Given the description of an element on the screen output the (x, y) to click on. 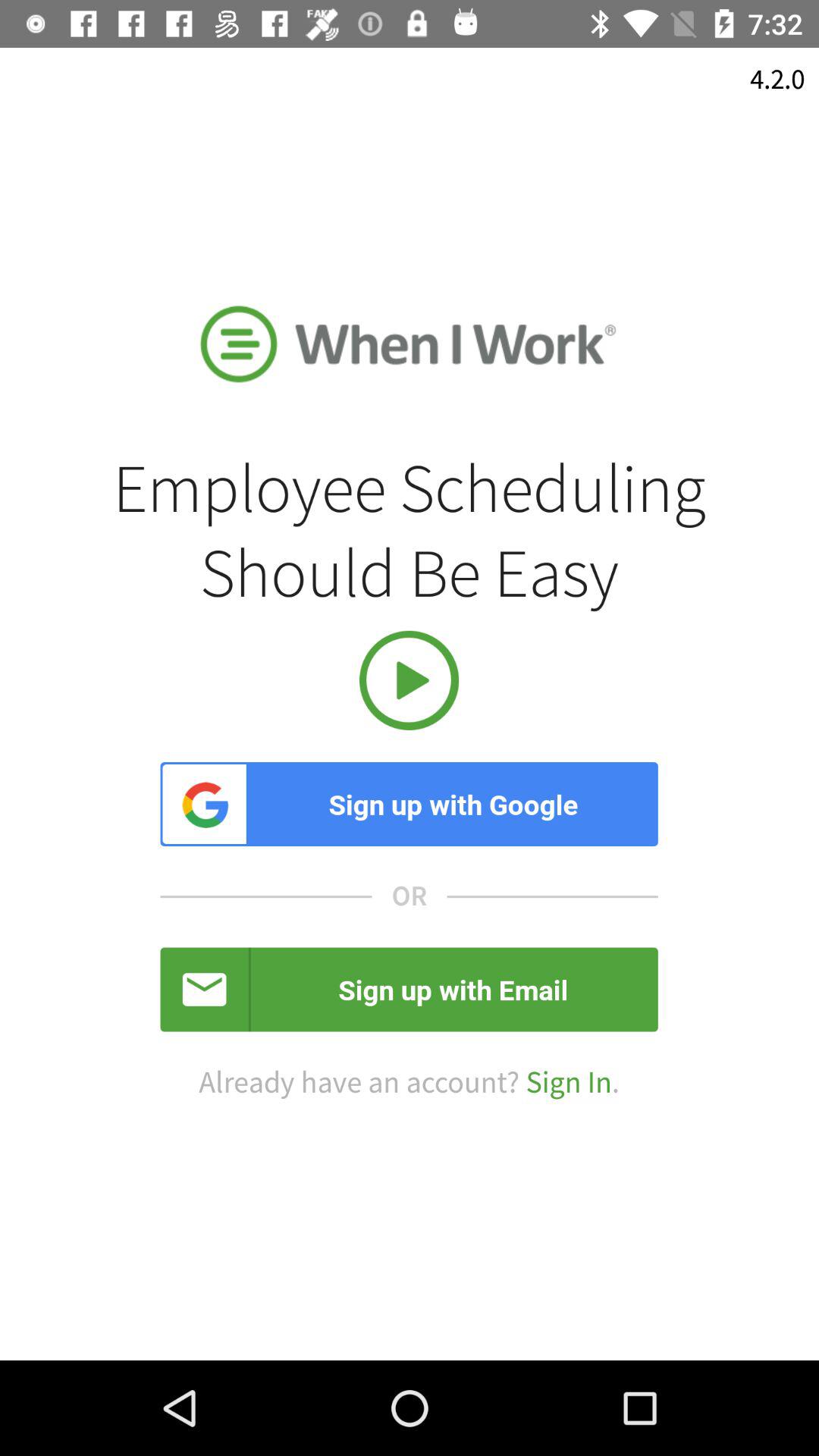
flip until the 4.2.0 item (777, 79)
